Given the description of an element on the screen output the (x, y) to click on. 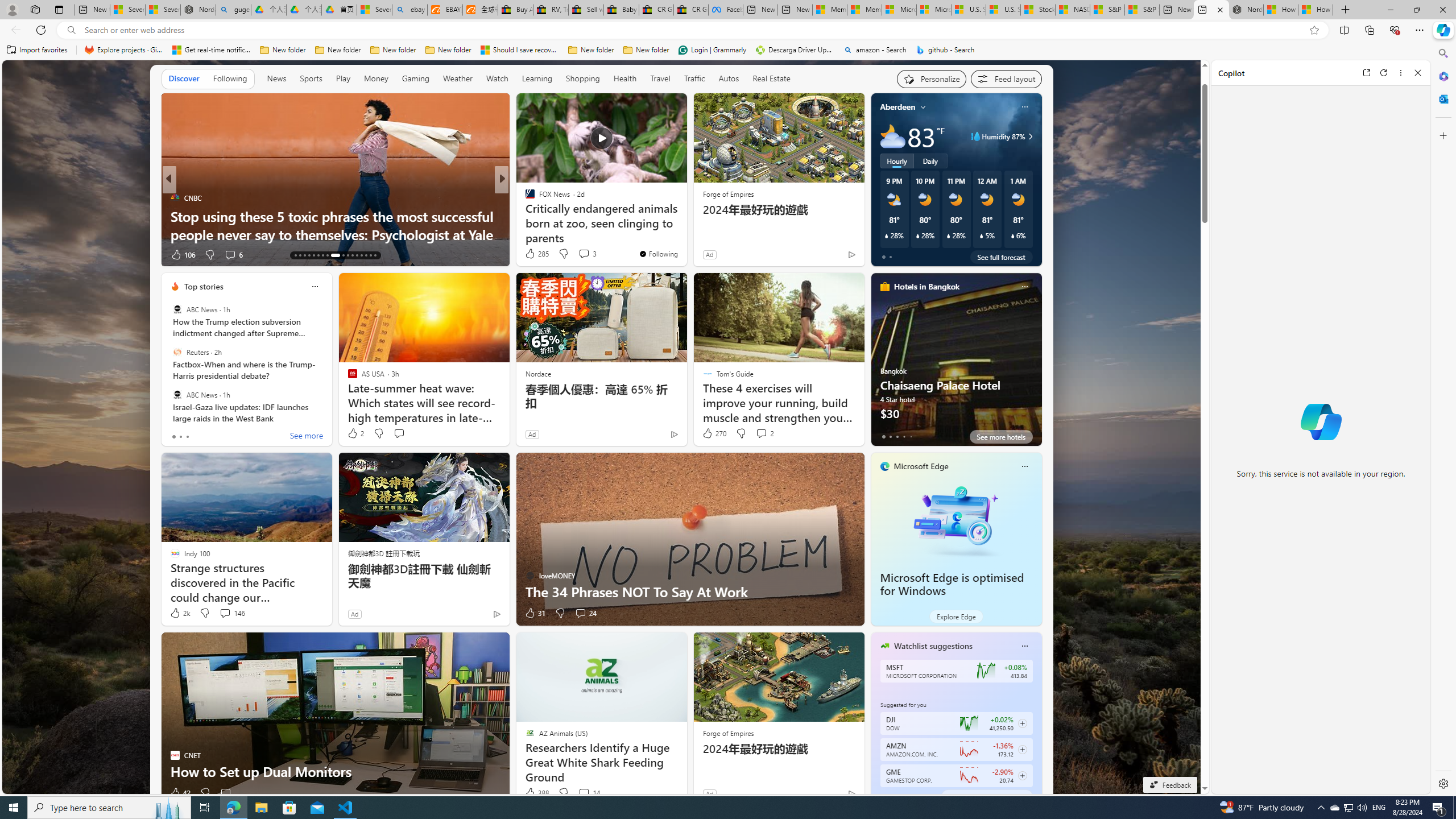
Learning (536, 78)
Login | Grammarly (712, 49)
View comments 14 Comment (588, 792)
AutomationID: tab-13 (295, 255)
Forge of Empires (727, 732)
The Cool Down (524, 197)
Top stories (203, 286)
Gaming (415, 78)
